Given the description of an element on the screen output the (x, y) to click on. 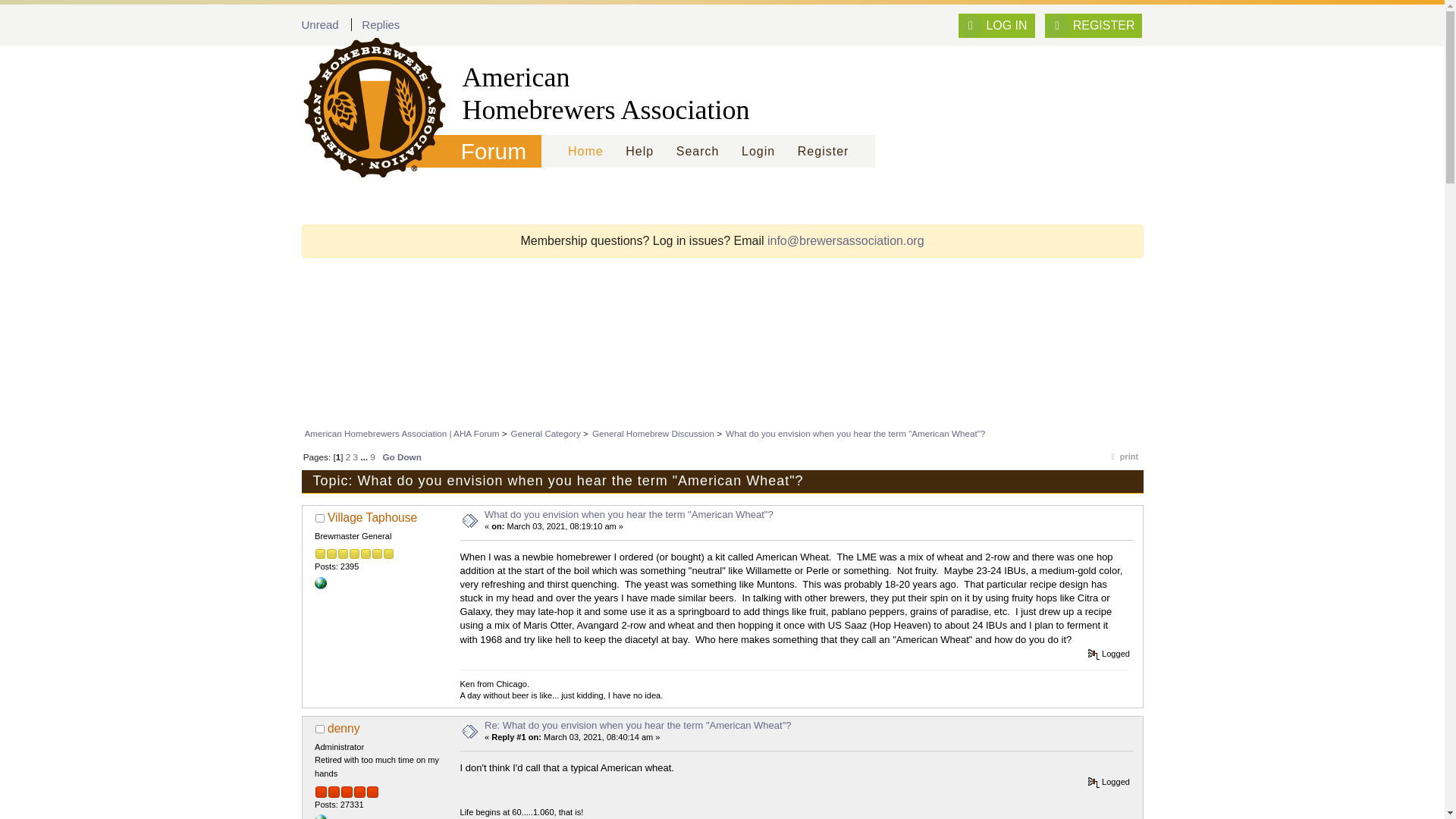
LOG IN (996, 25)
REGISTER (1093, 25)
print (1121, 459)
3rd party ad content (721, 304)
Dennybrew (320, 816)
Register (823, 151)
Unread (320, 24)
Help (639, 151)
Replies (379, 24)
3rd party ad content (721, 379)
Go Down (402, 456)
The new Mayfair Court Brewhouse (320, 582)
View the profile of Village Taphouse (371, 517)
Homebrewers Association (366, 93)
